Given the description of an element on the screen output the (x, y) to click on. 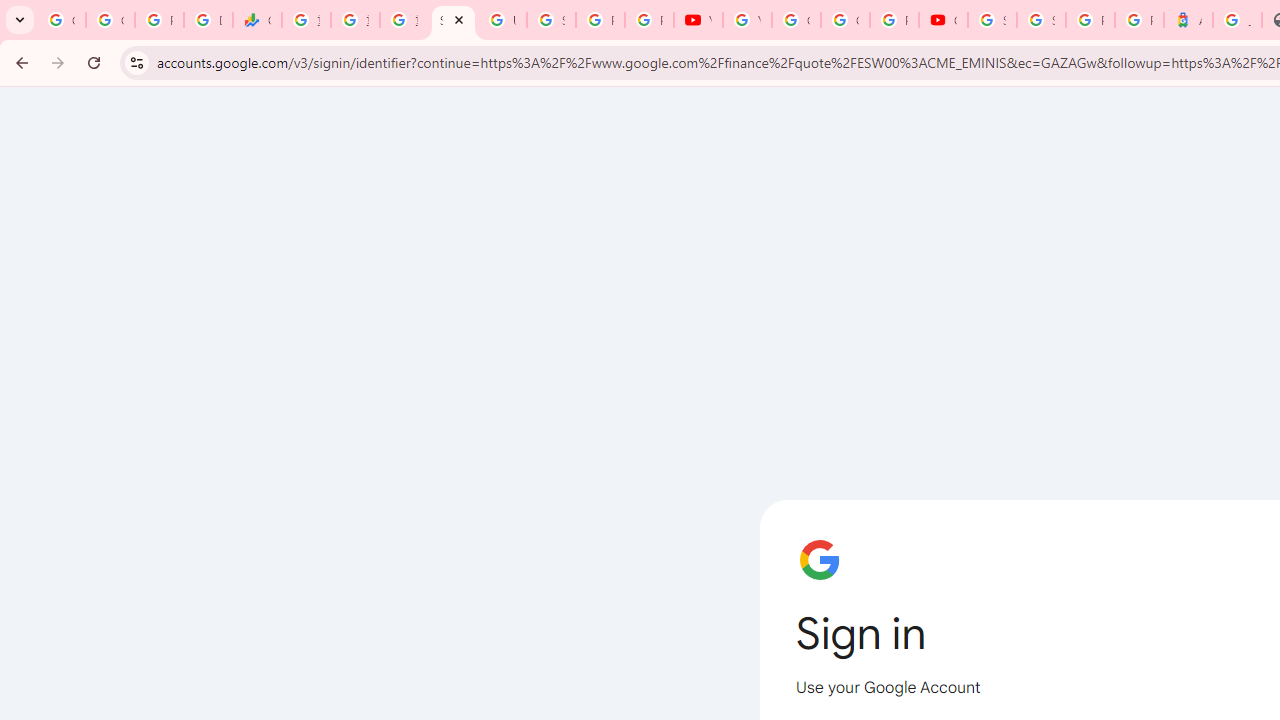
Atour Hotel - Google hotels (1188, 20)
Privacy Checkup (649, 20)
Sign in - Google Accounts (452, 20)
YouTube (698, 20)
Google Workspace Admin Community (61, 20)
YouTube (747, 20)
Sign in - Google Accounts (1041, 20)
